Given the description of an element on the screen output the (x, y) to click on. 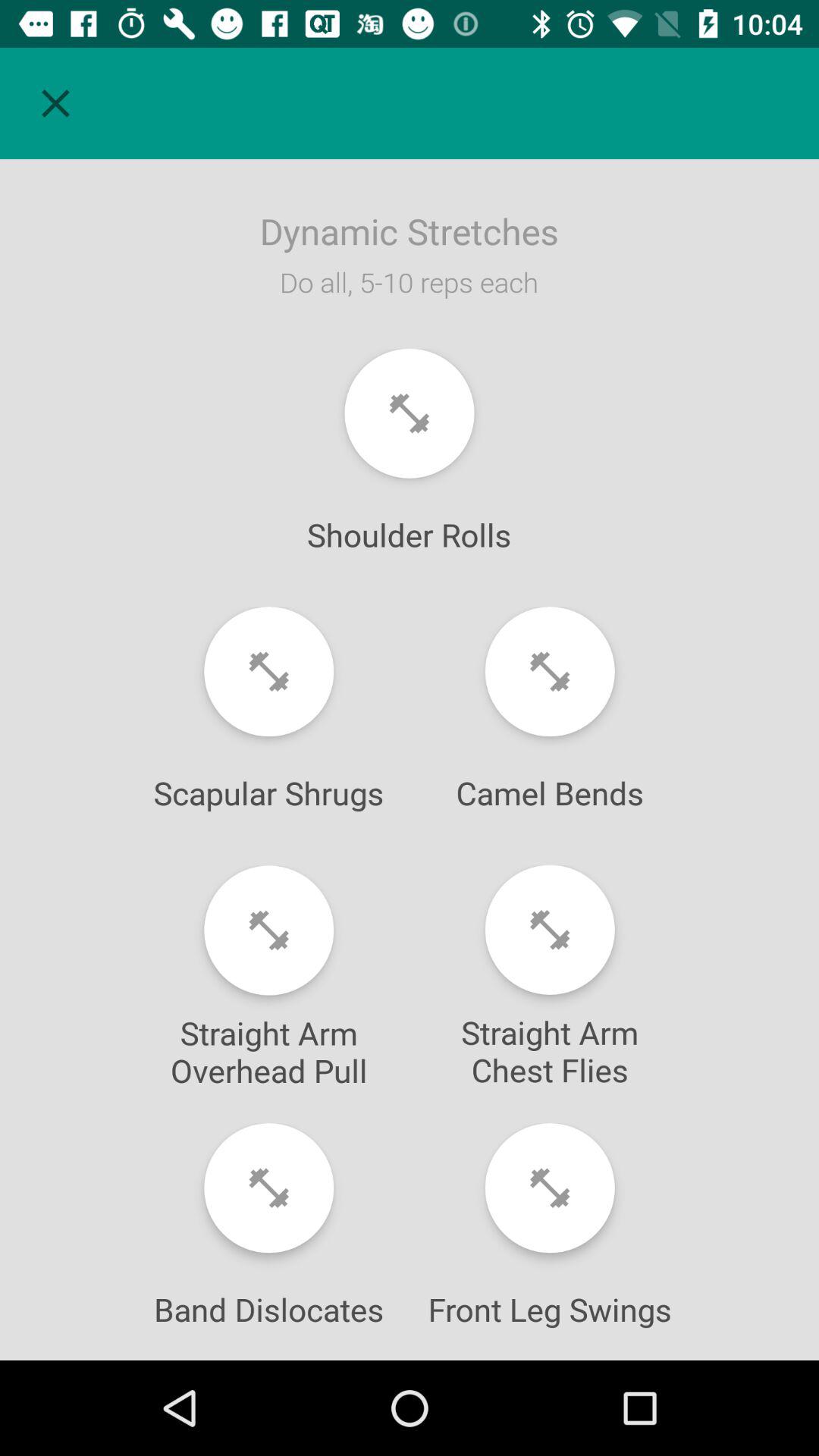
select straight arm overhead pull workout (268, 930)
